Given the description of an element on the screen output the (x, y) to click on. 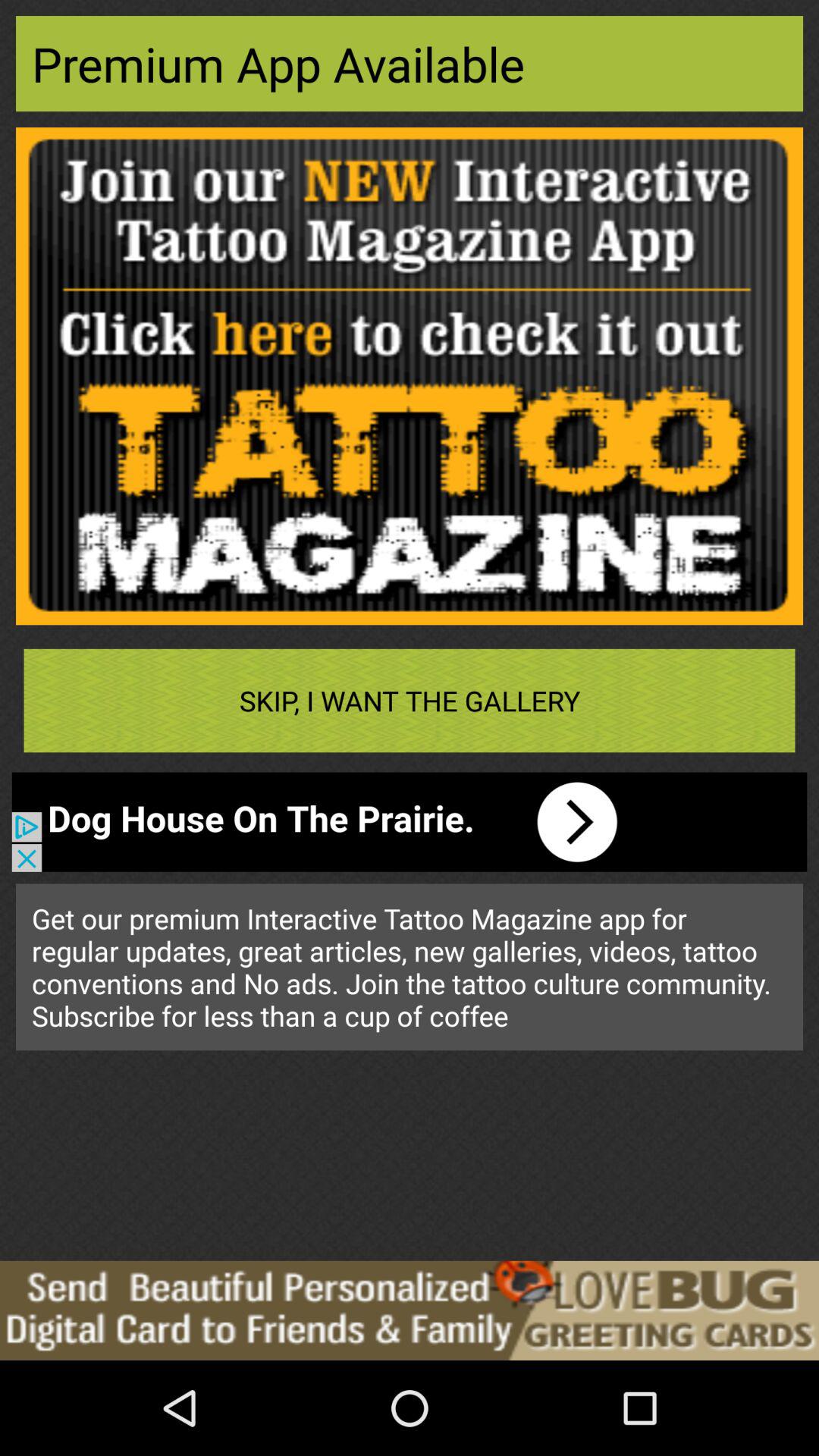
view advertiser (409, 1310)
